Given the description of an element on the screen output the (x, y) to click on. 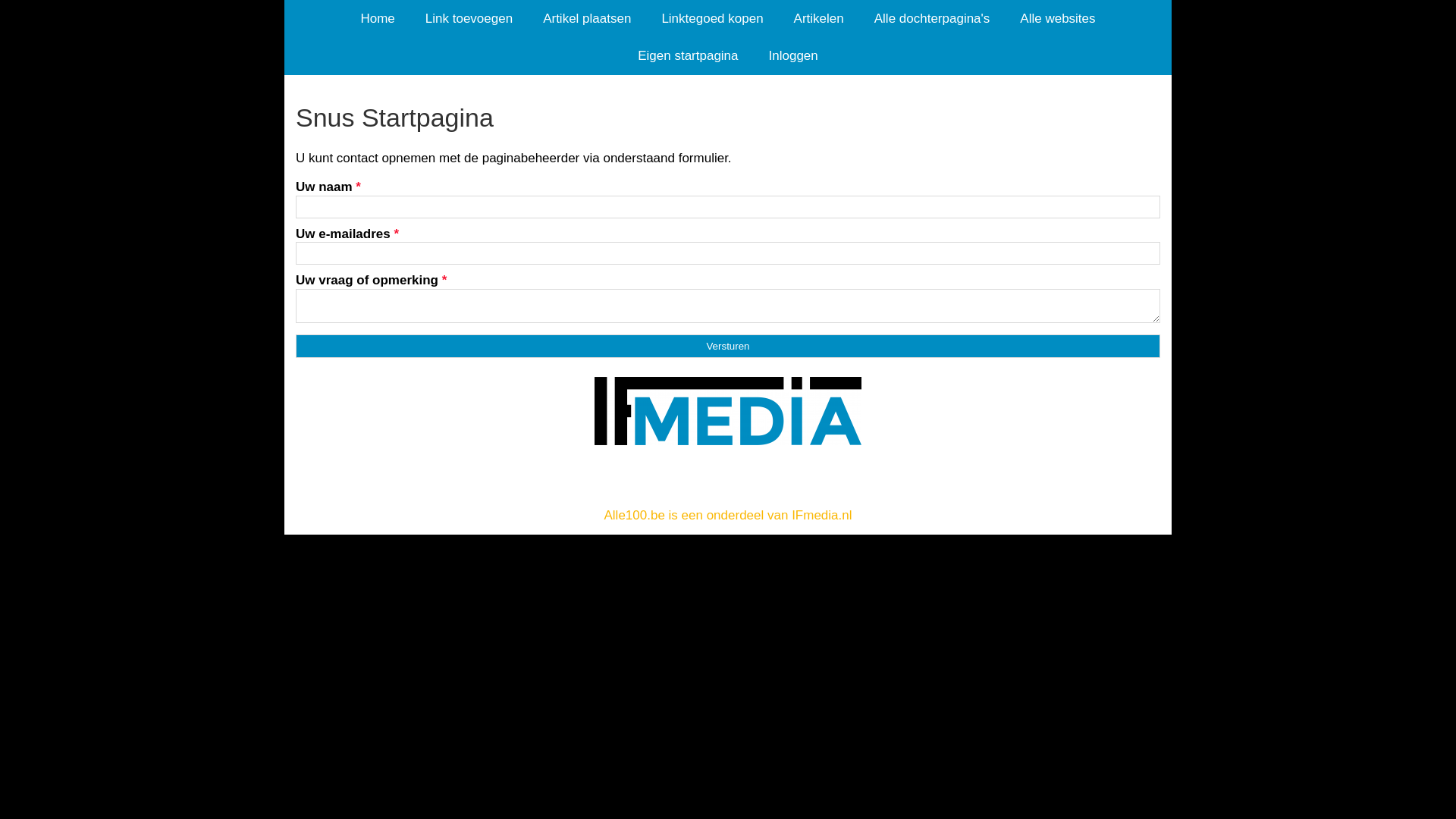
Versturen Element type: text (727, 345)
Eigen startpagina Element type: text (687, 55)
Snus Startpagina Element type: text (727, 117)
Home Element type: text (377, 18)
Link toevoegen Element type: text (468, 18)
Artikelen Element type: text (818, 18)
Inloggen Element type: text (793, 55)
Alle websites Element type: text (1057, 18)
Alle dochterpagina's Element type: text (932, 18)
Linktegoed kopen Element type: text (712, 18)
Artikel plaatsen Element type: text (586, 18)
